Given the description of an element on the screen output the (x, y) to click on. 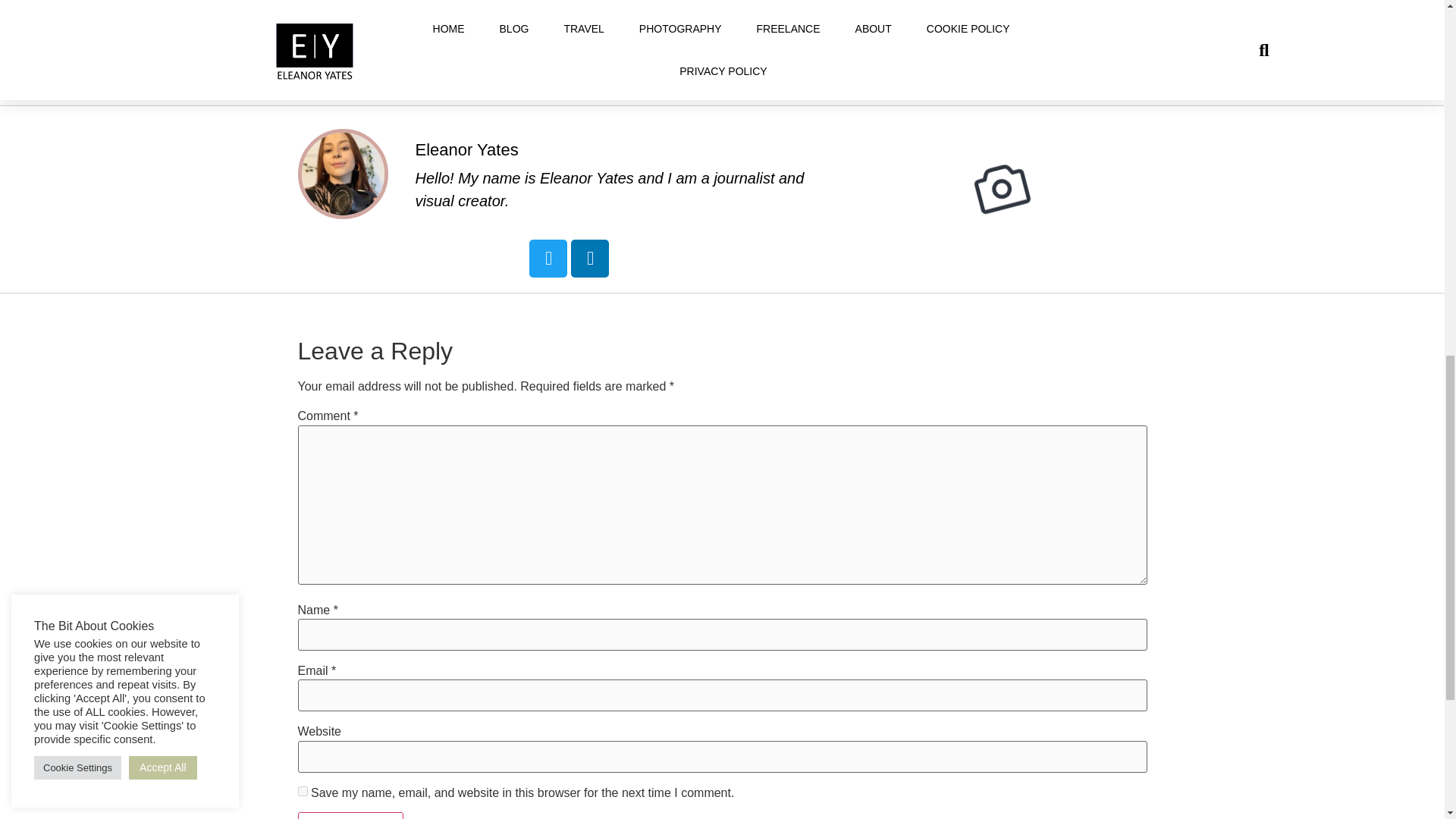
Post Comment (350, 815)
Post Comment (350, 815)
yes (302, 791)
